Given the description of an element on the screen output the (x, y) to click on. 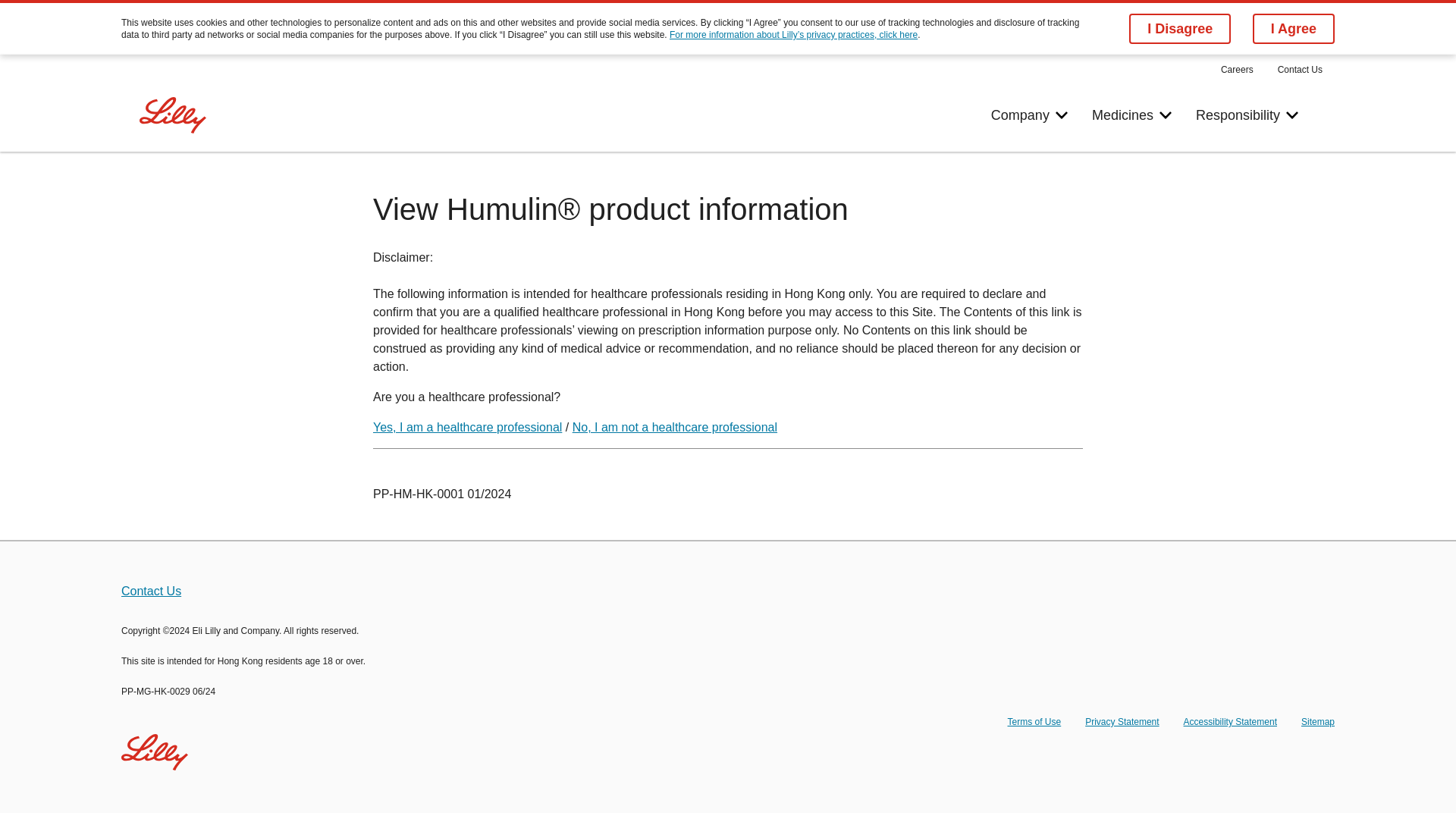
Terms of Use (1034, 721)
No, I am not a healthcare professional (674, 427)
Lilly (153, 751)
I Disagree (1179, 28)
Expand submenu (1061, 114)
Lilly (1156, 114)
I Agree (172, 115)
Privacy Statement (1293, 28)
Expand submenu (1121, 721)
Accessibility Statement (1165, 114)
Expand submenu (1229, 721)
Yes, I am a healthcare professional (1291, 114)
Lilly (467, 427)
Contact Us (172, 114)
